Given the description of an element on the screen output the (x, y) to click on. 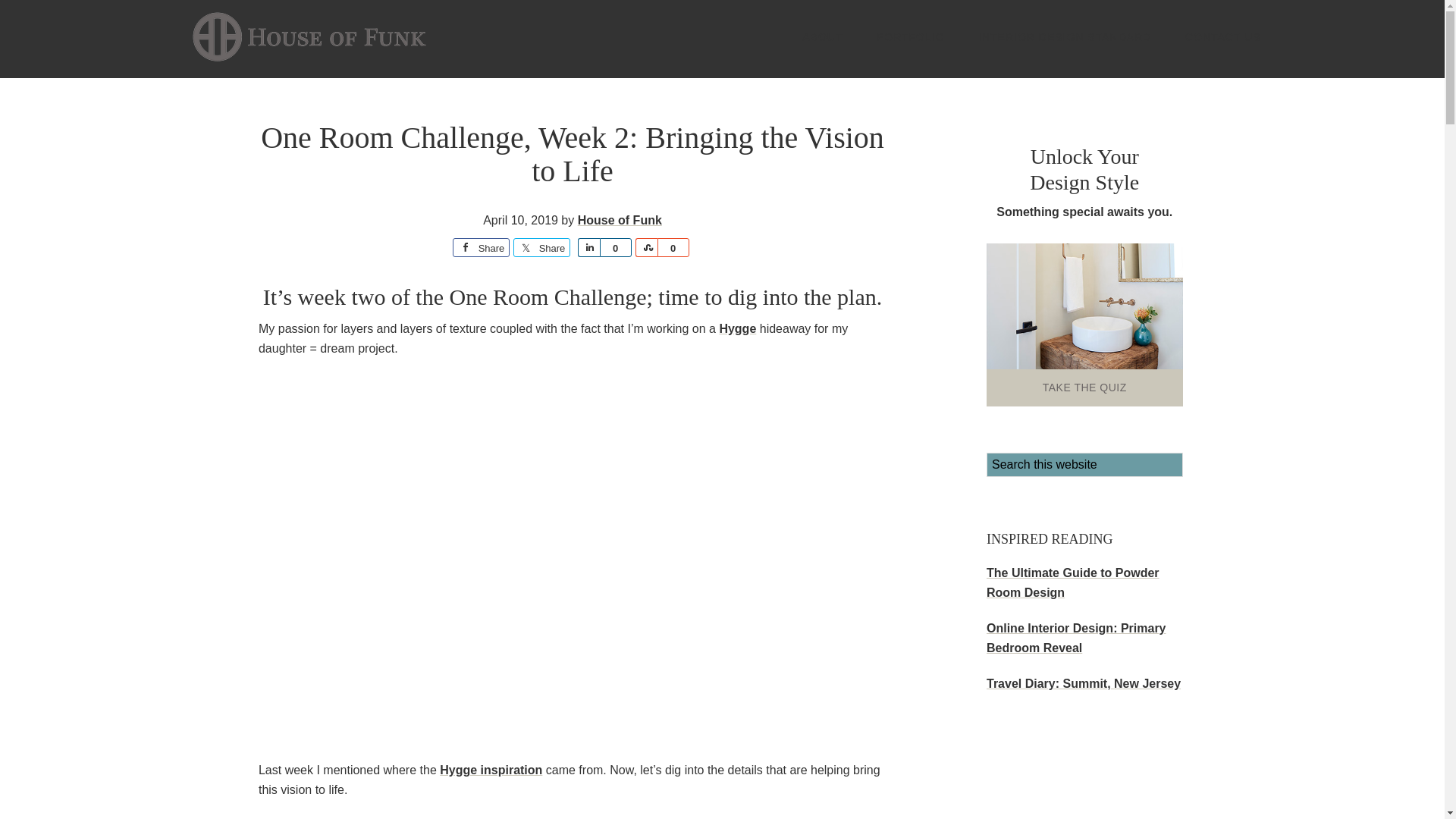
Share (541, 247)
Hygge (737, 328)
House of Funk (620, 219)
Hygge inspiration (490, 769)
CONTACT US (1223, 37)
Share (646, 247)
0 (673, 247)
Share (588, 247)
